Given the description of an element on the screen output the (x, y) to click on. 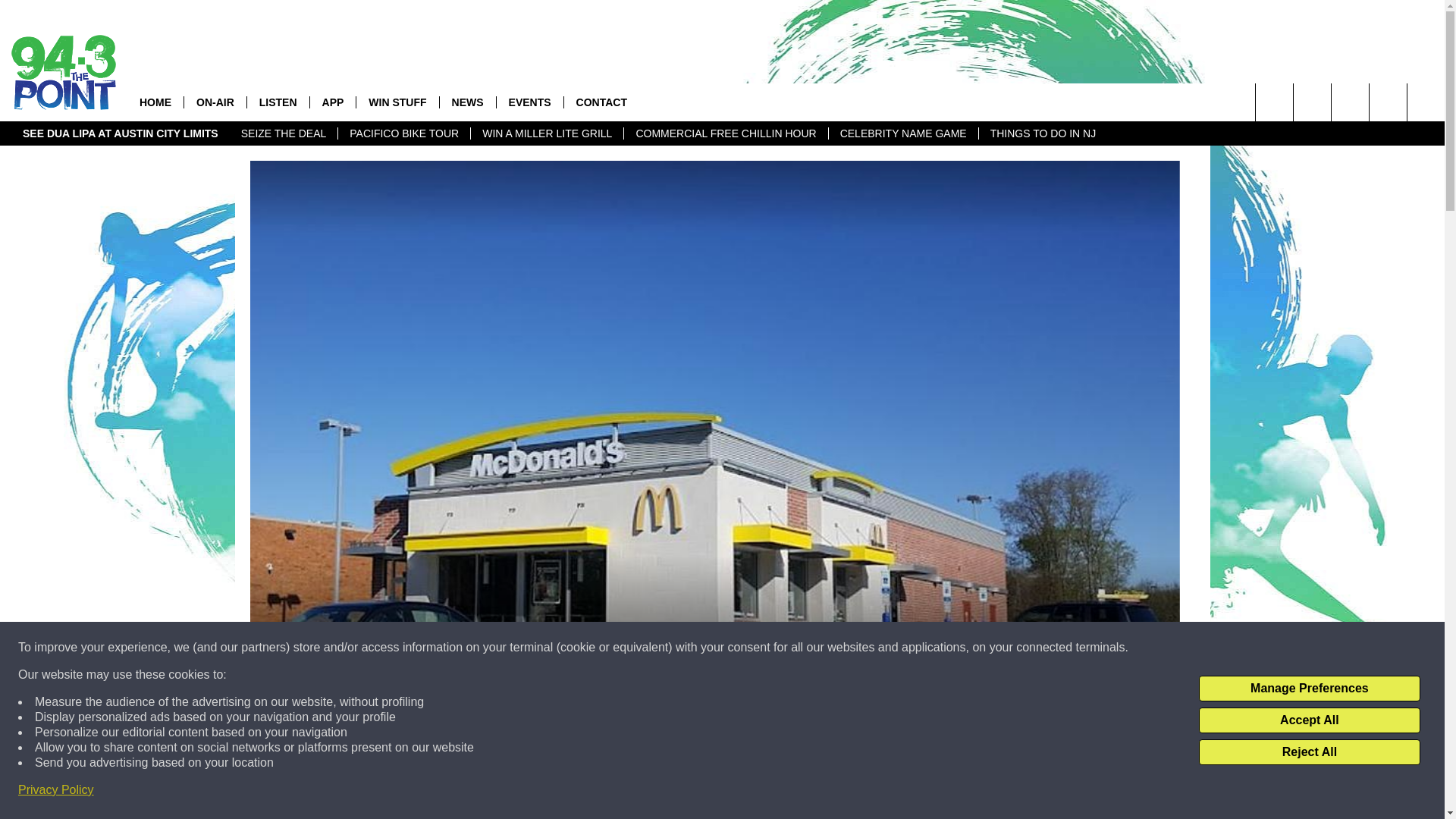
PACIFICO BIKE TOUR (403, 133)
Reject All (1309, 751)
WIN A MILLER LITE GRILL (546, 133)
THINGS TO DO IN NJ (1043, 133)
Accept All (1309, 720)
CELEBRITY NAME GAME (903, 133)
HOME (155, 102)
ON-AIR (214, 102)
LISTEN (277, 102)
SEIZE THE DEAL (283, 133)
Manage Preferences (1309, 688)
COMMERCIAL FREE CHILLIN HOUR (725, 133)
Privacy Policy (55, 789)
Share on Twitter (912, 791)
SEE DUA LIPA AT AUSTIN CITY LIMITS (120, 133)
